Given the description of an element on the screen output the (x, y) to click on. 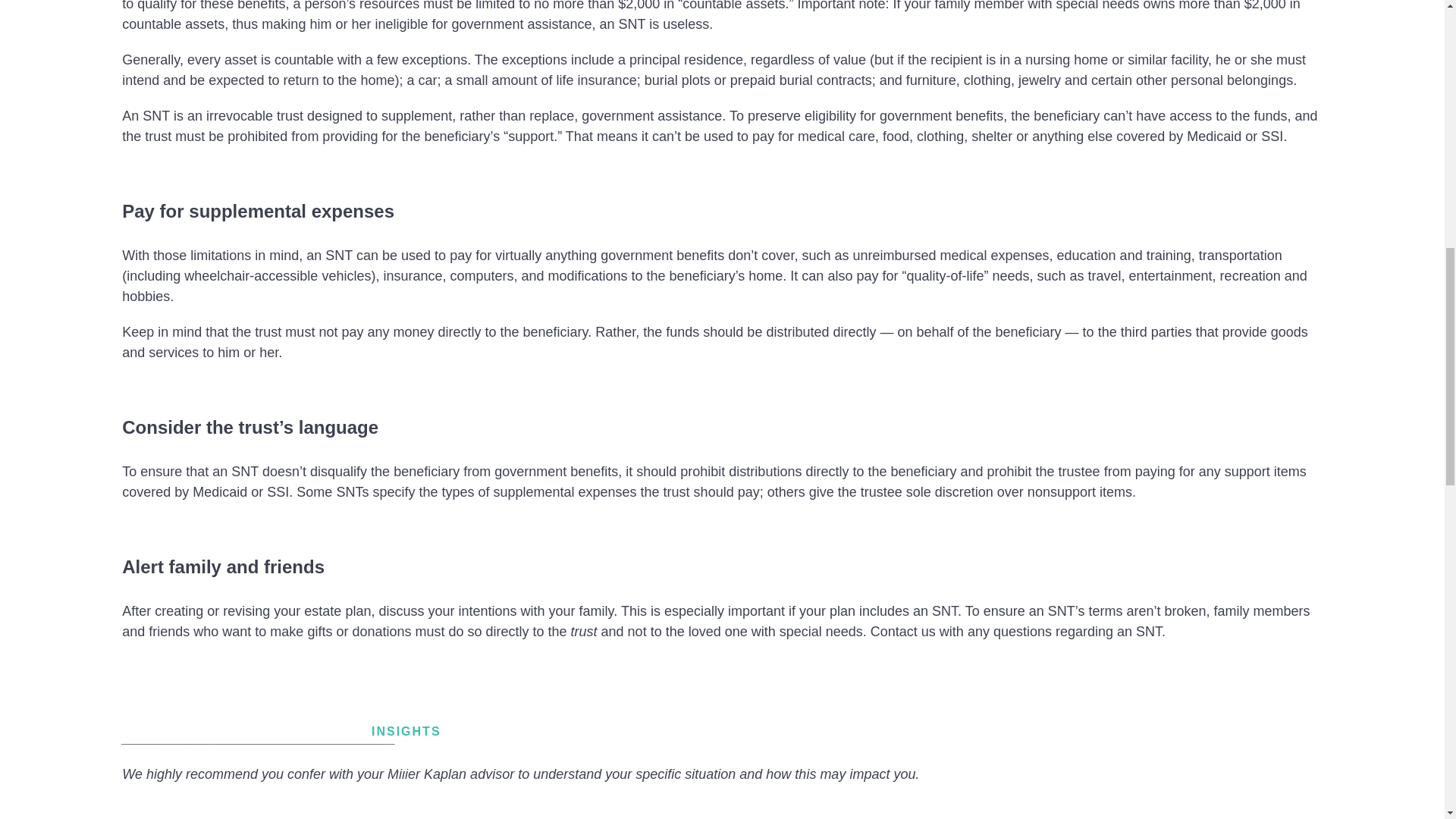
LOCATIONS (413, 695)
CAREERS (406, 766)
INSIGHTS (406, 730)
ABOUT (396, 802)
